Given the description of an element on the screen output the (x, y) to click on. 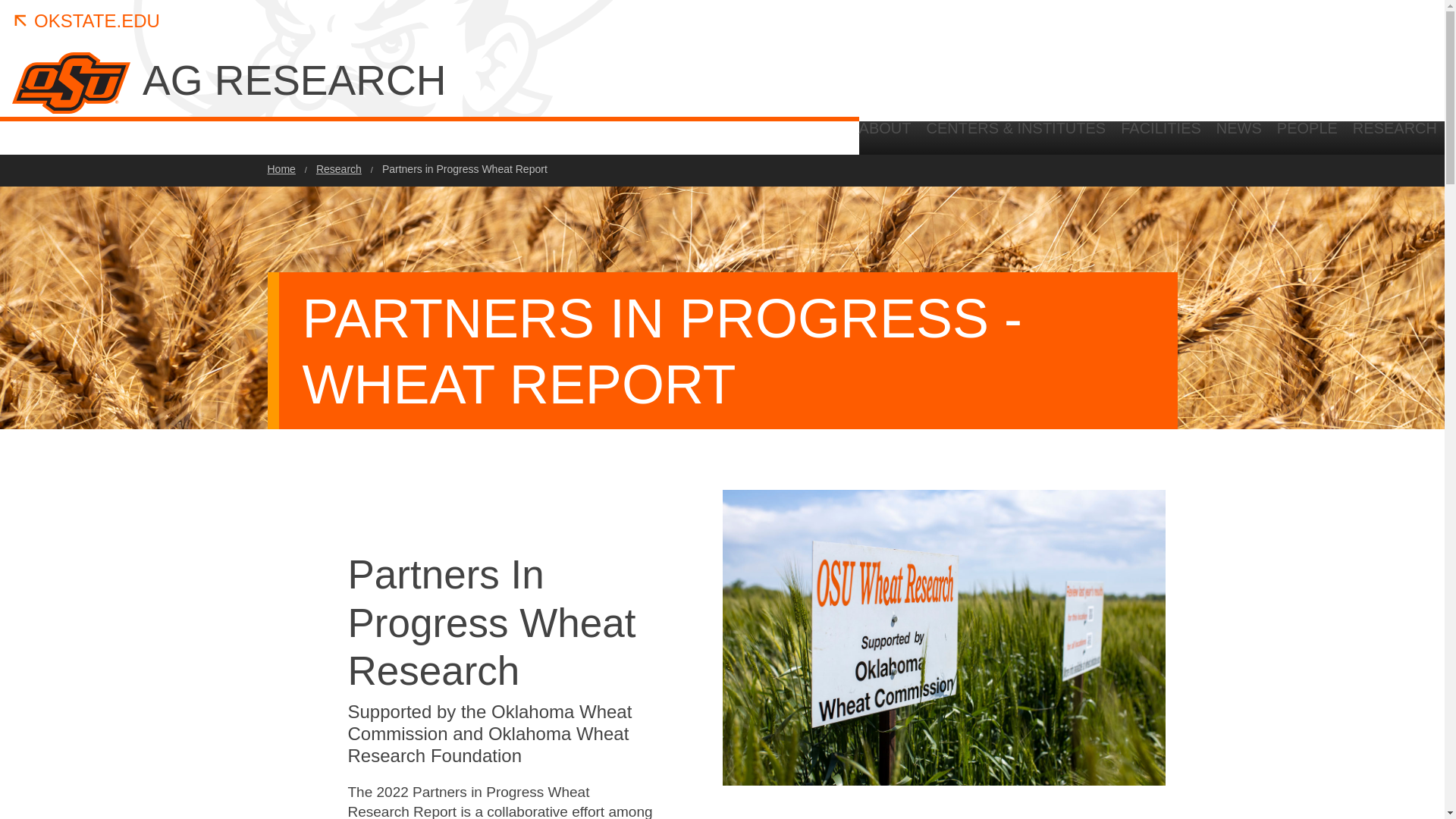
Home (280, 168)
OSU Extension (1300, 137)
FACILITIES (1160, 133)
PEOPLE (1307, 133)
Research (338, 168)
NEWS (1238, 133)
Ferguson College (1389, 137)
Partners in Progress Wheat Report (464, 168)
Search (1344, 261)
ABOUT (888, 133)
AG RESEARCH (477, 80)
OKSTATE.EDU (85, 21)
